Given the description of an element on the screen output the (x, y) to click on. 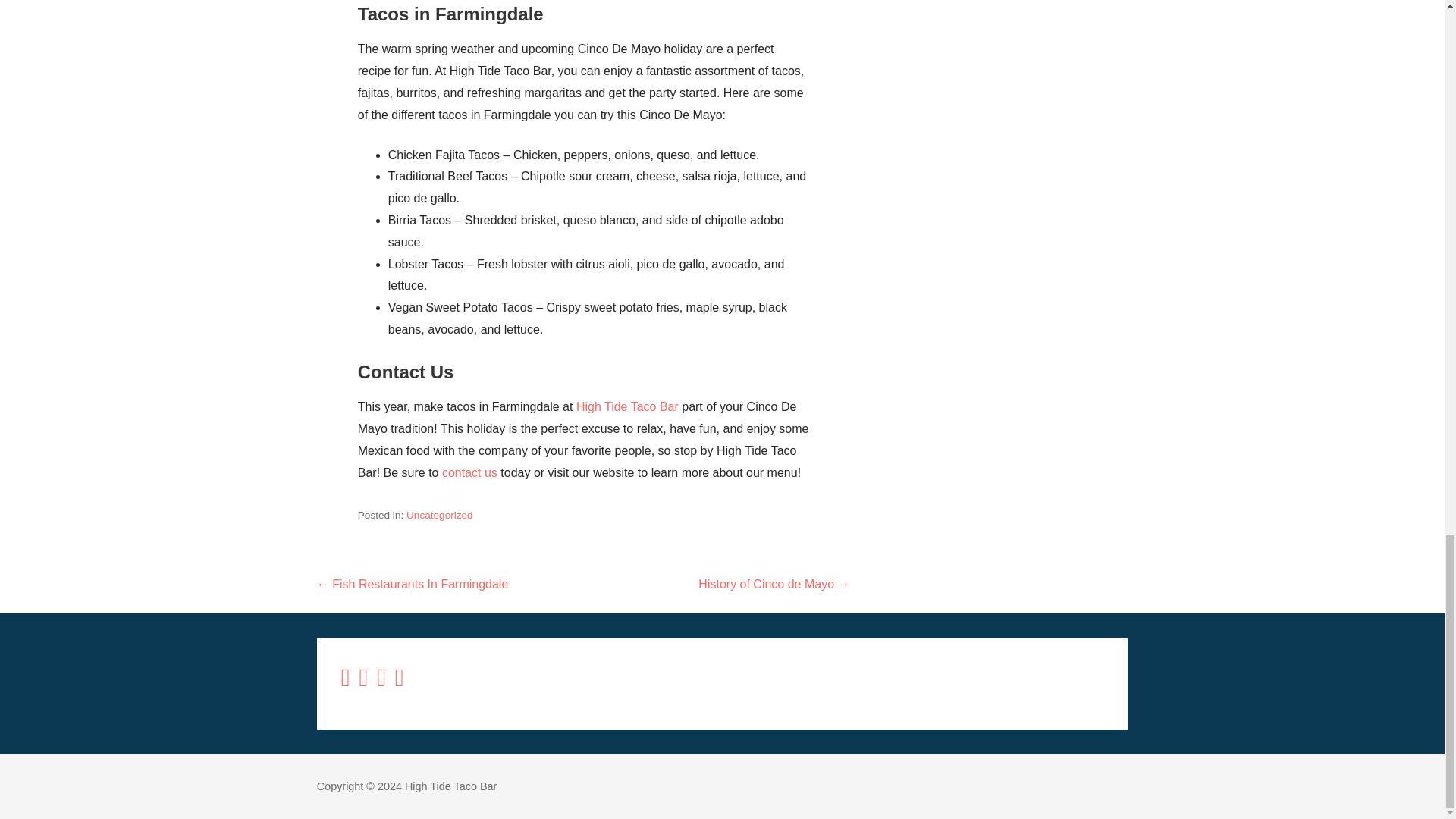
contact us (471, 472)
High Tide Taco Bar (627, 406)
Uncategorized (439, 514)
